Given the description of an element on the screen output the (x, y) to click on. 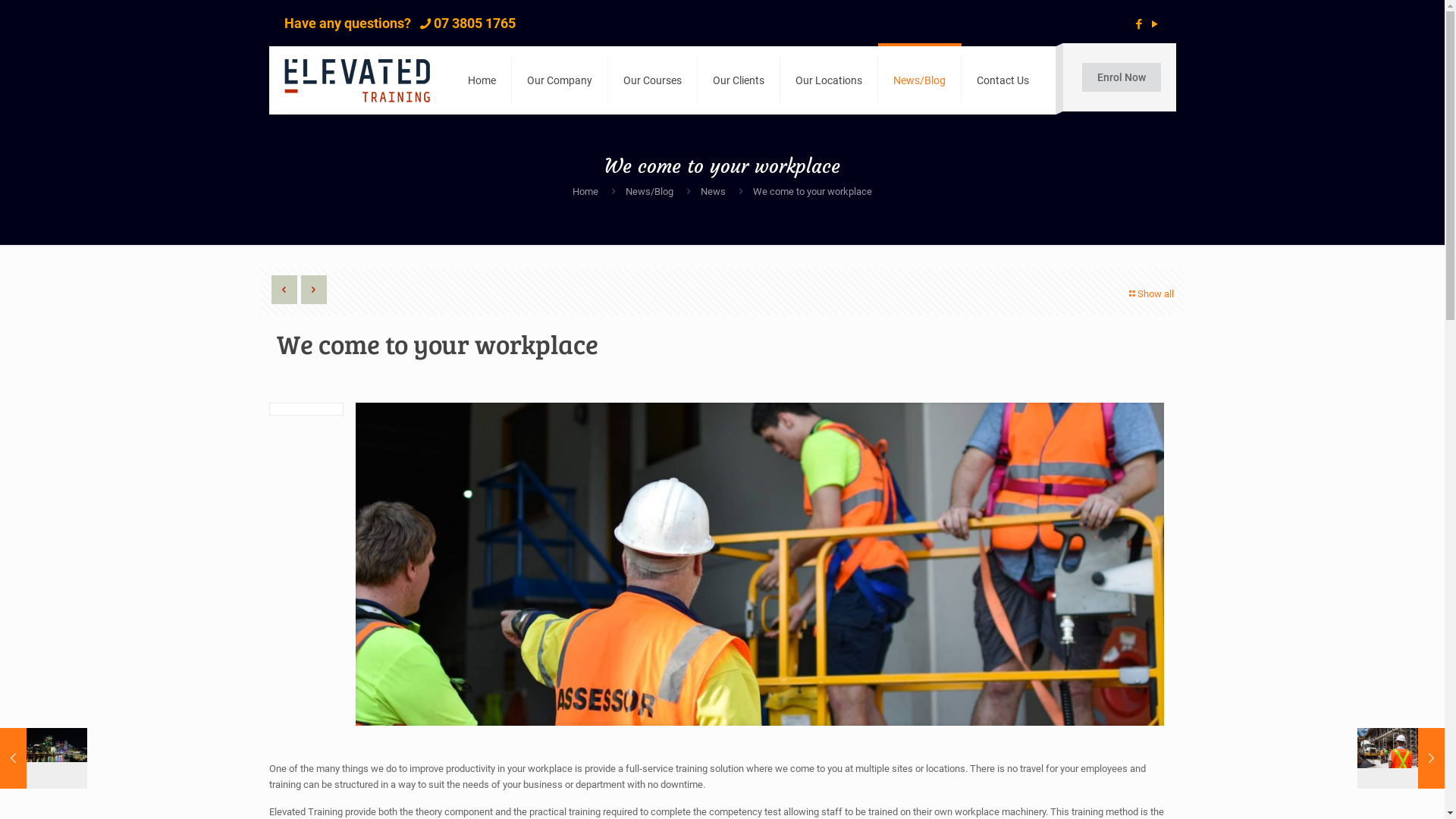
Home Element type: text (481, 80)
Home Element type: text (585, 191)
Show all Element type: text (1149, 293)
Our Locations Element type: text (828, 80)
News Element type: text (712, 191)
Elevated Training Element type: hover (356, 80)
Our Company Element type: text (559, 80)
News/Blog Element type: text (919, 80)
News/Blog Element type: text (649, 191)
YouTube Element type: hover (1155, 24)
Enrol Now Element type: text (1120, 76)
07 3805 1765 Element type: text (474, 23)
Facebook Element type: hover (1138, 24)
Our Clients Element type: text (738, 80)
Our Courses Element type: text (652, 80)
Contact Us Element type: text (1002, 80)
